Given the description of an element on the screen output the (x, y) to click on. 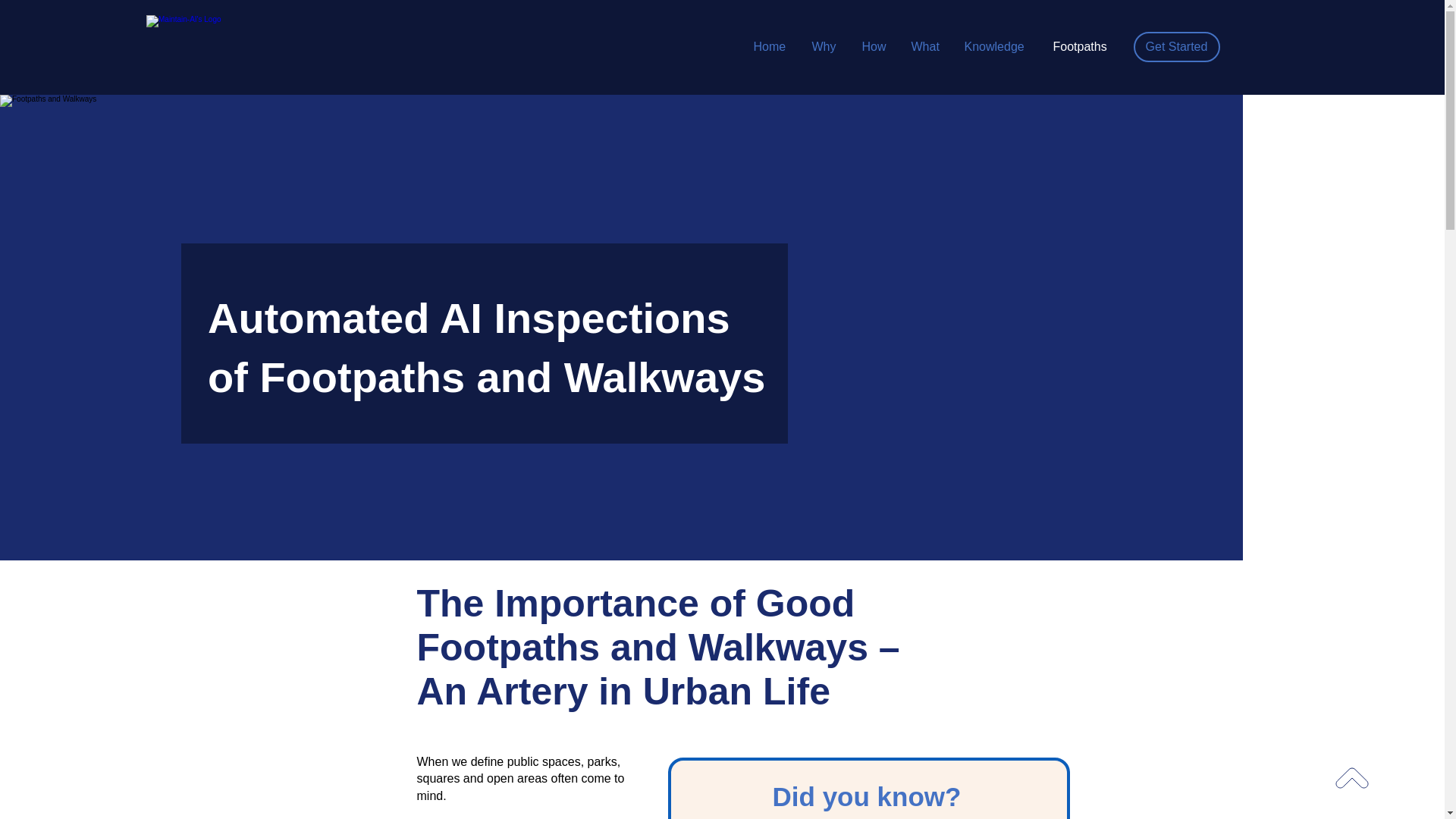
Get Started (1176, 46)
Why (825, 46)
How (874, 46)
What (925, 46)
Footpaths (1083, 46)
Knowledge (996, 46)
Home (770, 46)
